Given the description of an element on the screen output the (x, y) to click on. 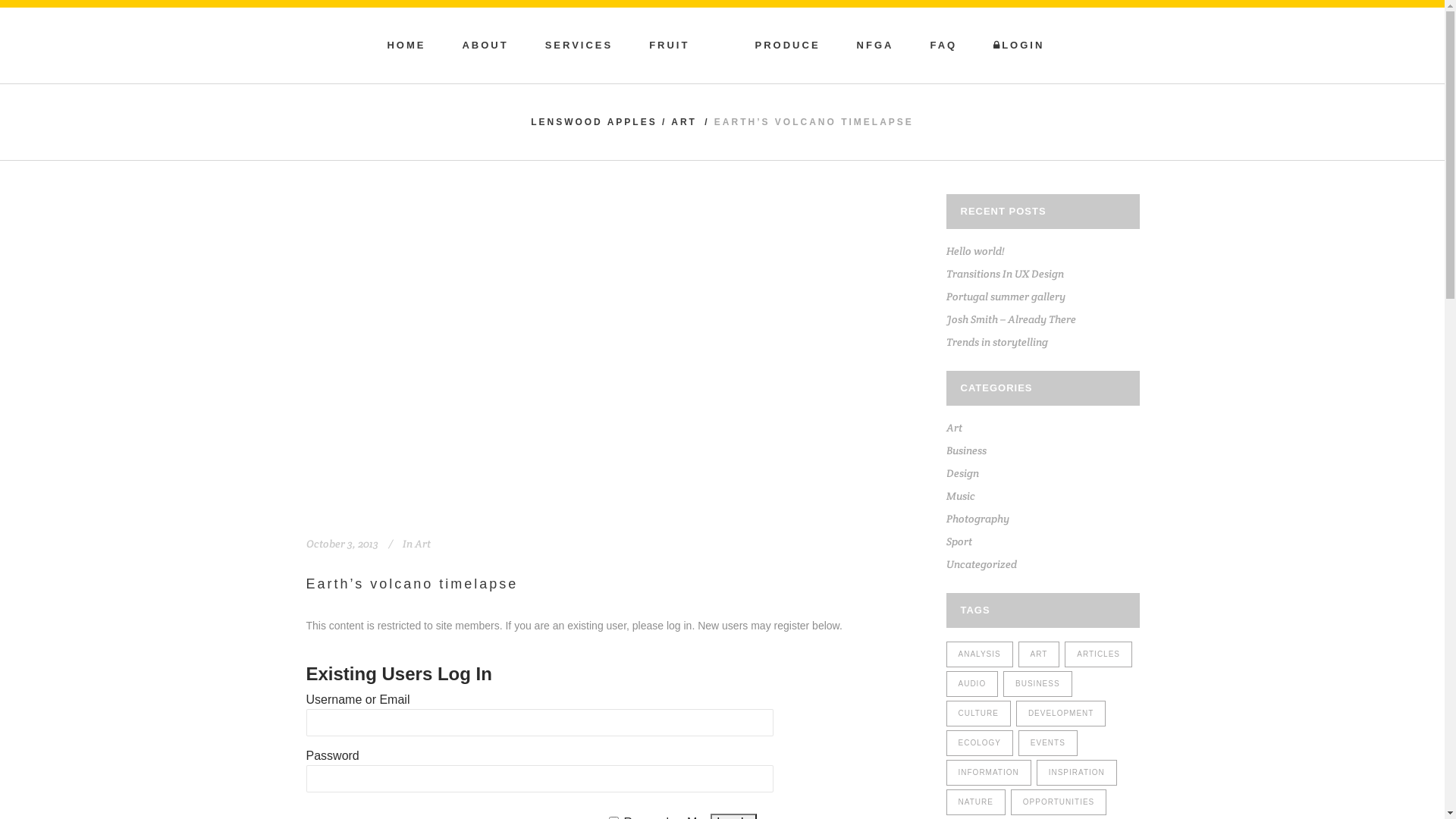
NFGA Element type: text (875, 45)
Art Element type: text (421, 543)
LOGIN Element type: text (1018, 45)
Sport Element type: text (959, 541)
NATURE Element type: text (975, 802)
Hello world! Element type: text (975, 250)
OPPORTUNITIES Element type: text (1058, 802)
ANALYSIS Element type: text (979, 654)
DEVELOPMENT Element type: text (1061, 713)
INFORMATION Element type: text (988, 772)
CULTURE Element type: text (978, 713)
Business Element type: text (966, 450)
Trends in storytelling Element type: text (997, 341)
Design Element type: text (962, 473)
INSPIRATION Element type: text (1076, 772)
Art Element type: text (954, 427)
Transitions In UX Design Element type: text (1004, 273)
EVENTS Element type: text (1047, 743)
SERVICES Element type: text (579, 45)
Portugal summer gallery Element type: text (1005, 296)
ART Element type: text (1039, 654)
Photography Element type: text (977, 518)
FRUIT Element type: text (668, 45)
LENSWOOD APPLES Element type: text (593, 121)
ARTICLES Element type: text (1098, 654)
Uncategorized Element type: text (981, 564)
Music Element type: text (960, 495)
BUSINESS Element type: text (1037, 683)
FAQ Element type: text (943, 45)
PRODUCE Element type: text (787, 45)
HOME Element type: text (405, 45)
ABOUT Element type: text (484, 45)
AUDIO Element type: text (972, 683)
ECOLOGY Element type: text (979, 743)
ART Element type: text (683, 121)
